Given the description of an element on the screen output the (x, y) to click on. 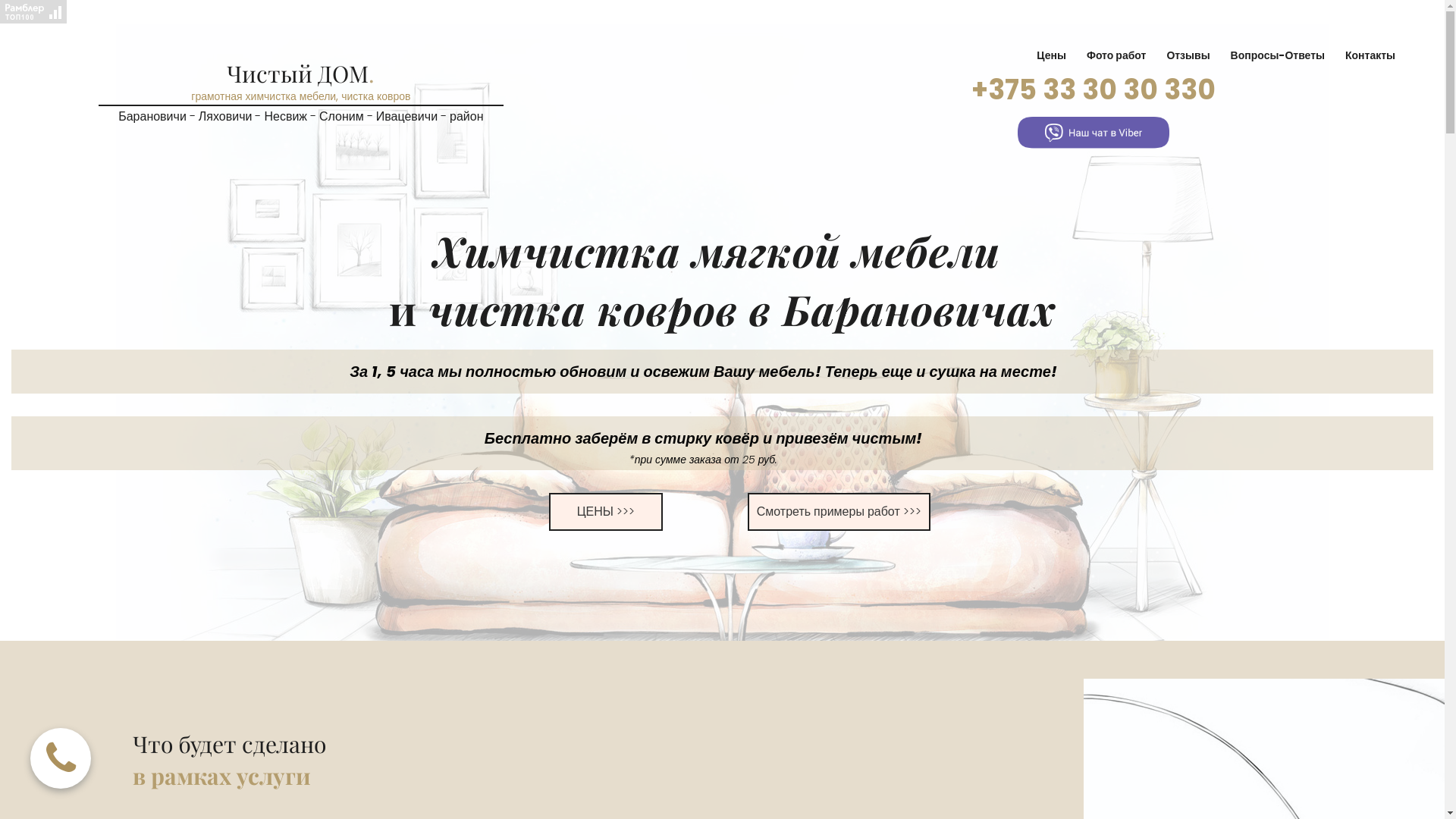
+375 33 30 30 330 Element type: text (1093, 89)
Rambler's Top100 Element type: hover (33, 11)
